Given the description of an element on the screen output the (x, y) to click on. 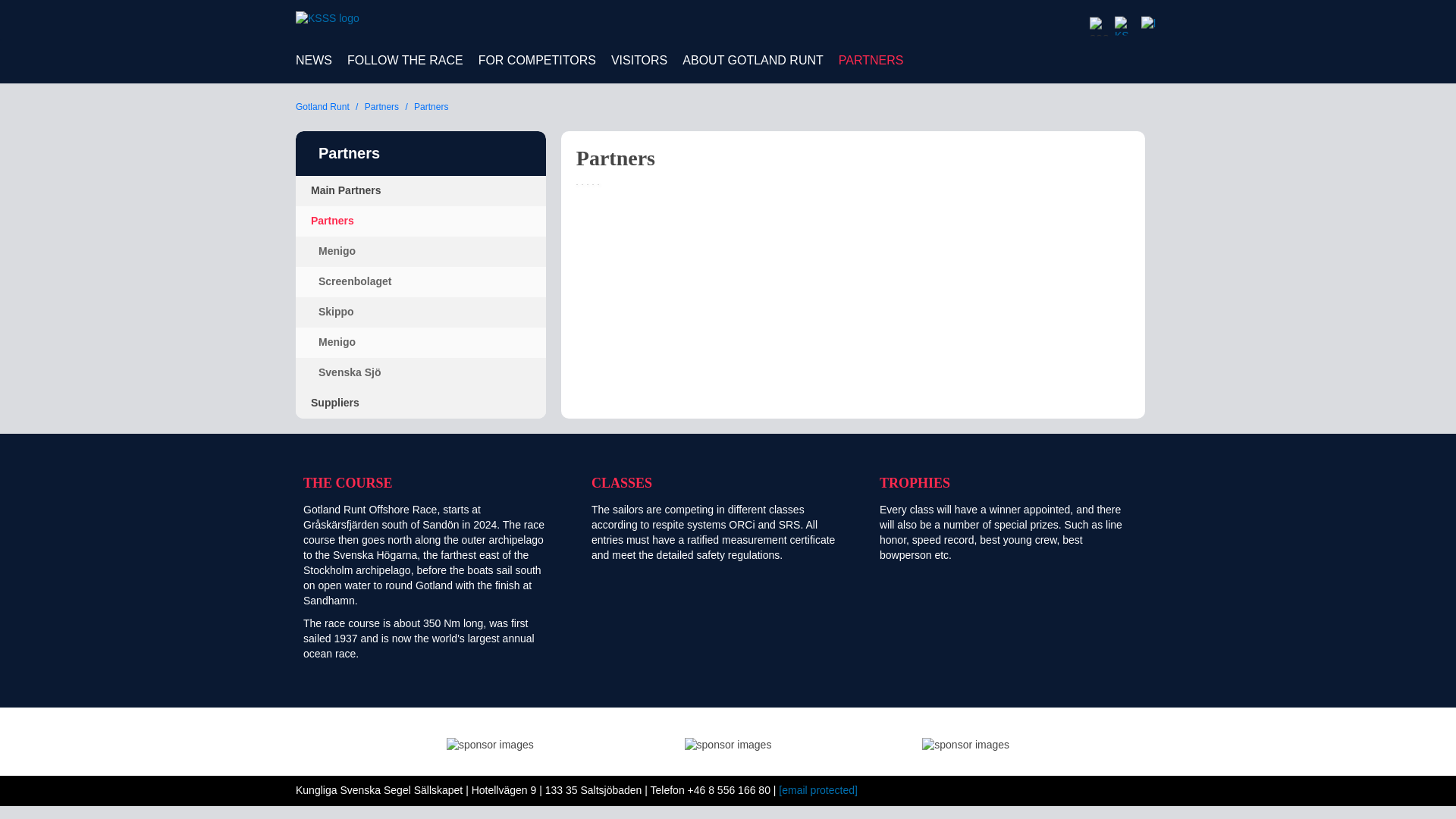
FOR COMPETITORS (537, 60)
FOLLOW THE RACE (404, 60)
NEWS (313, 60)
